Given the description of an element on the screen output the (x, y) to click on. 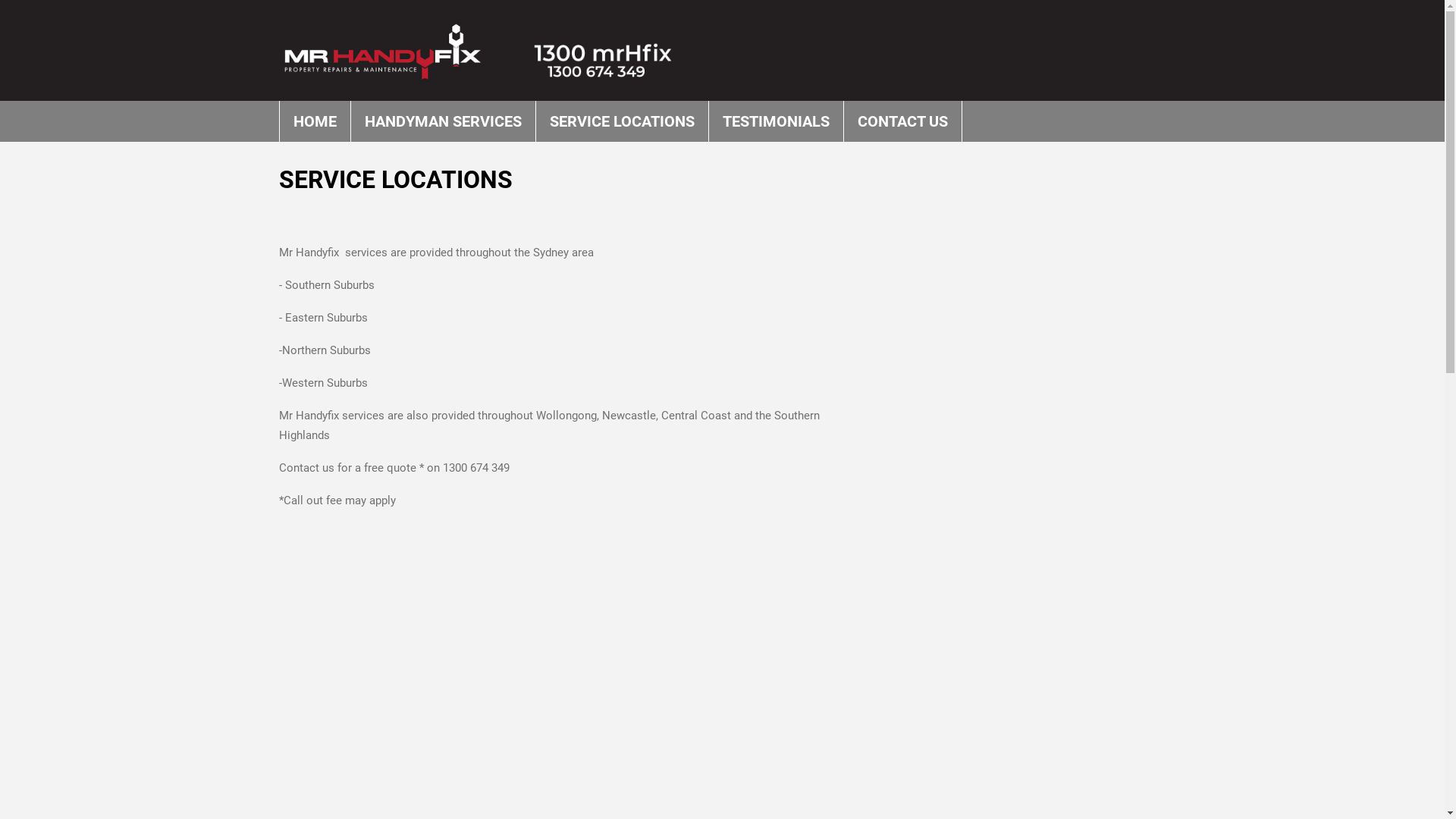
CONTACT US Element type: text (902, 120)
SERVICE LOCATIONS Element type: text (621, 120)
For all your Handyman Repairs around Sydney Element type: hover (495, 51)
TESTIMONIALS Element type: text (775, 120)
HOME Element type: text (315, 120)
HANDYMAN SERVICES Element type: text (442, 120)
